Given the description of an element on the screen output the (x, y) to click on. 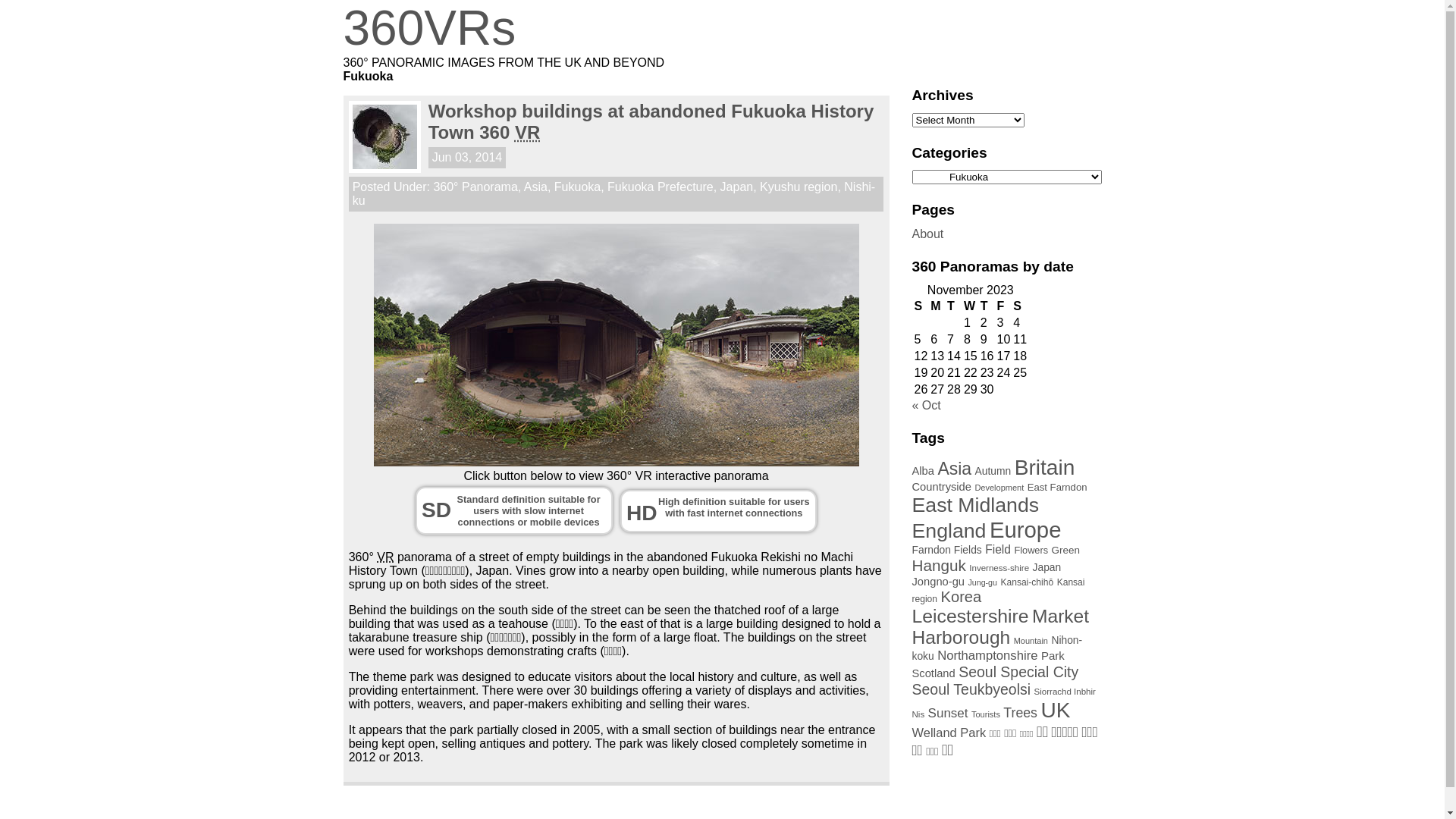
Tourists Element type: text (985, 713)
Seoul Teukbyeolsi Element type: text (970, 688)
Jung-gu Element type: text (982, 581)
Countryside Element type: text (940, 486)
Jongno-gu Element type: text (937, 581)
Alba Element type: text (922, 470)
Inverness-shire Element type: text (999, 567)
Siorrachd Inbhir Nis Element type: text (1003, 702)
Flowers Element type: text (1030, 549)
Europe Element type: text (1025, 529)
Workshop buildings at abandoned Fukuoka History Town 360 VR Element type: text (651, 121)
Britain Element type: text (1044, 467)
Fukuoka Prefecture Element type: text (660, 186)
Scotland Element type: text (932, 673)
Hanguk Element type: text (938, 565)
Fukuoka Element type: text (577, 186)
Park Element type: text (1052, 655)
Northamptonshire Element type: text (987, 655)
UK Element type: text (1055, 709)
Leicestershire Element type: text (969, 615)
Nihon-koku Element type: text (996, 647)
Welland Park Element type: text (948, 732)
Asia Element type: text (954, 468)
East Farndon Element type: text (1057, 486)
Green Element type: text (1065, 549)
Sunset Element type: text (948, 713)
Japan Element type: text (1046, 567)
Market Harborough Element type: text (999, 626)
Kansai region Element type: text (997, 590)
Autumn Element type: text (993, 470)
East Midlands Element type: text (974, 504)
Trees Element type: text (1020, 712)
Korea Element type: text (960, 596)
Seoul Special City Element type: text (1018, 671)
Japan Element type: text (736, 186)
Development Element type: text (998, 487)
Kyushu region Element type: text (798, 186)
England Element type: text (948, 530)
Mountain Element type: text (1030, 640)
Farndon Fields Element type: text (946, 549)
Asia Element type: text (535, 186)
Field Element type: text (997, 548)
Nishi-ku Element type: text (613, 193)
360VRs Element type: text (721, 28)
About Element type: text (927, 233)
